Given the description of an element on the screen output the (x, y) to click on. 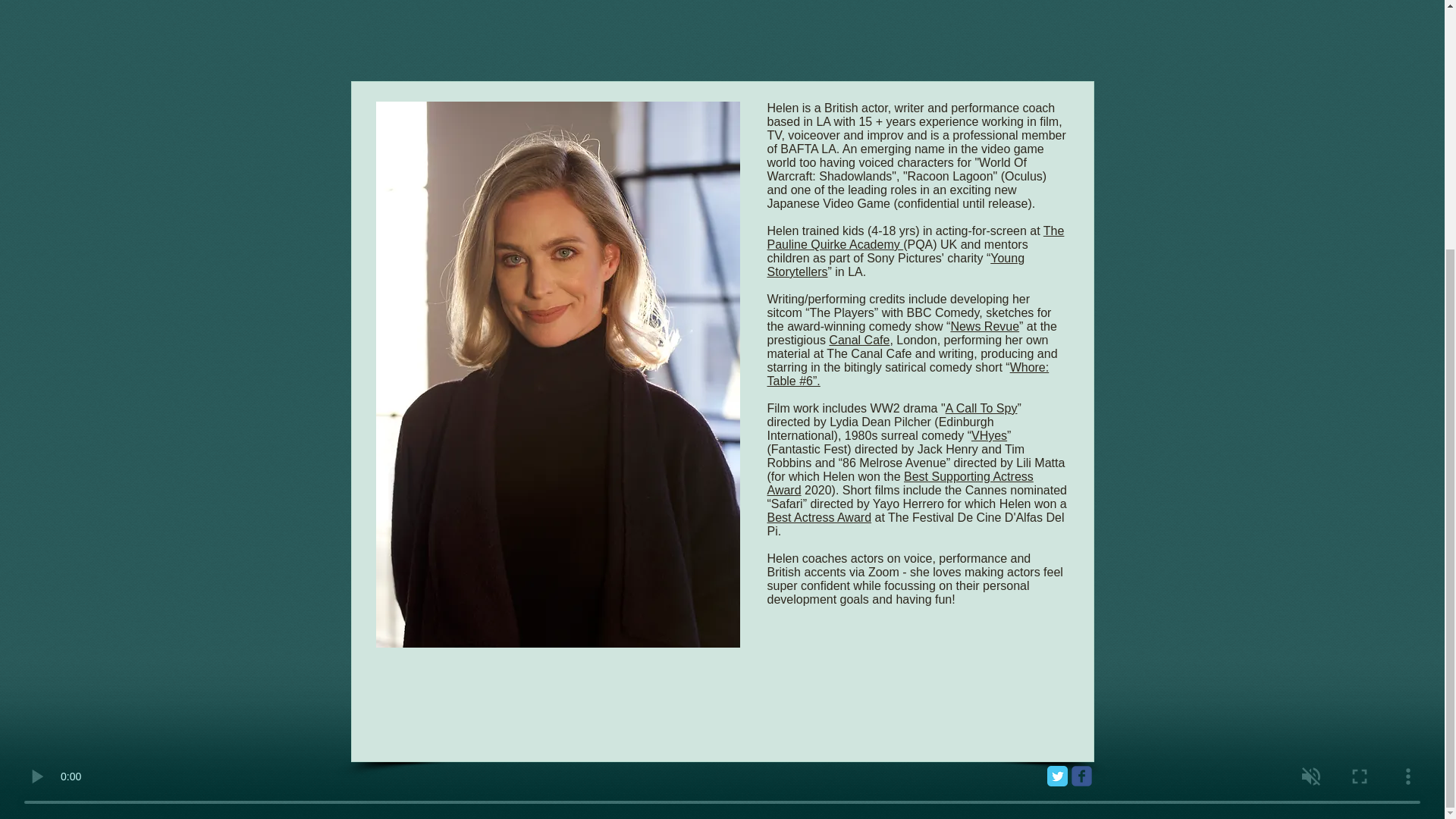
VHyes (989, 435)
Best Actress Award (819, 517)
Young Storytellers (896, 264)
A Call To Spy (980, 408)
Twitter Tweet (732, 707)
The Pauline Quirke Academy (915, 237)
Canal Cafe (858, 339)
Best Supporting Actress Award (900, 483)
News Revue (984, 326)
